Given the description of an element on the screen output the (x, y) to click on. 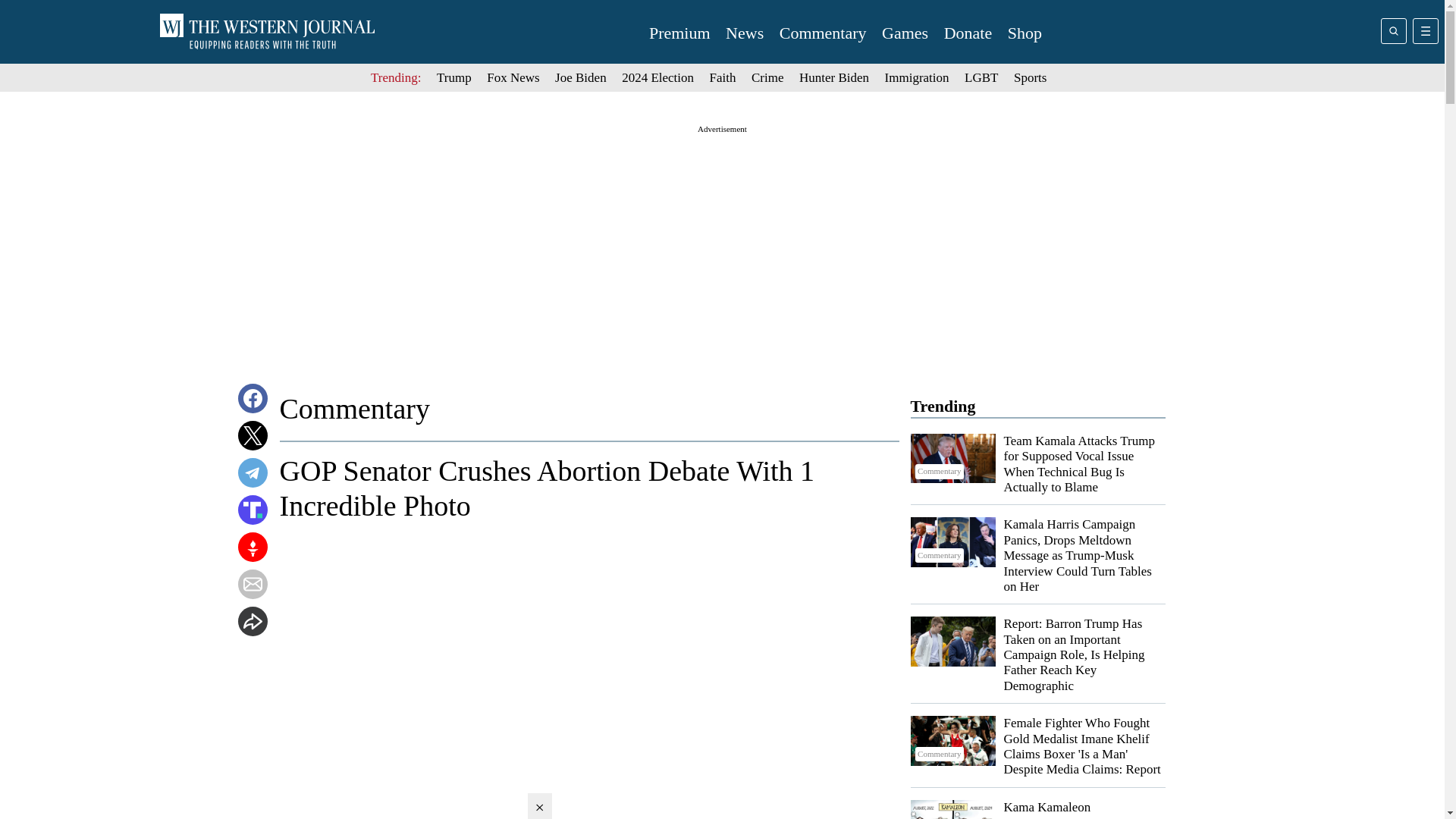
2024 Election (657, 77)
Immigration (917, 77)
News (743, 32)
Premium (679, 32)
LGBT (980, 77)
Trump (453, 77)
Sports (1029, 77)
Commentary (822, 32)
